Given the description of an element on the screen output the (x, y) to click on. 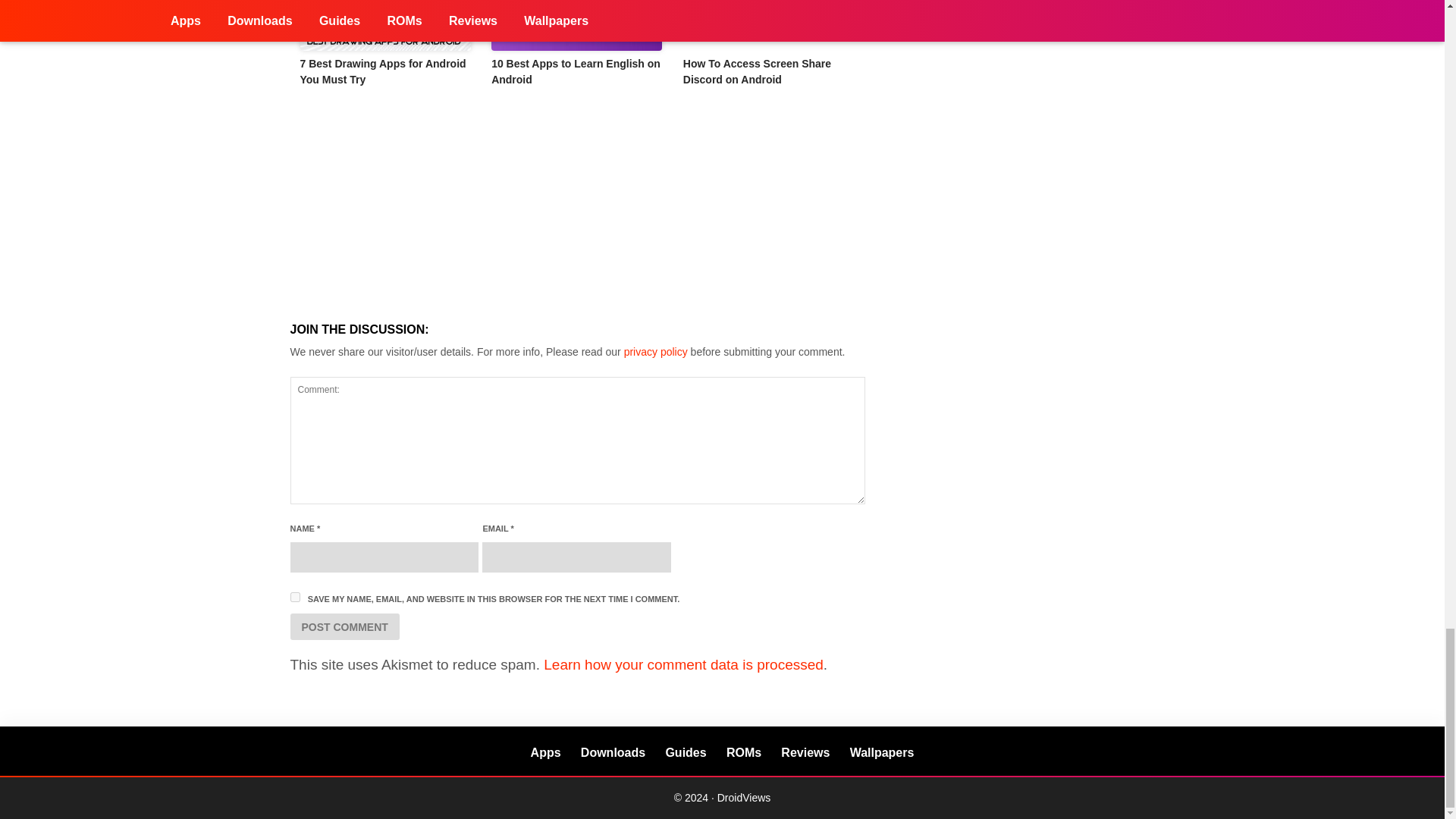
Downloads (612, 752)
Post Comment (343, 626)
10 Best Apps to Learn English on Android (577, 25)
comment-policy-title (655, 351)
How To Access Screen Share Discord on Android (769, 25)
privacy policy (655, 351)
How To Access Screen Share Discord on Android (756, 71)
yes (294, 596)
Apps (545, 752)
Post Comment (343, 626)
Guides (685, 752)
10 Best Apps to Learn English on Android (576, 71)
Learn how your comment data is processed (683, 664)
7 Best Drawing Apps for Android You Must Try (382, 71)
7 Best Drawing Apps for Android You Must Try (385, 25)
